Given the description of an element on the screen output the (x, y) to click on. 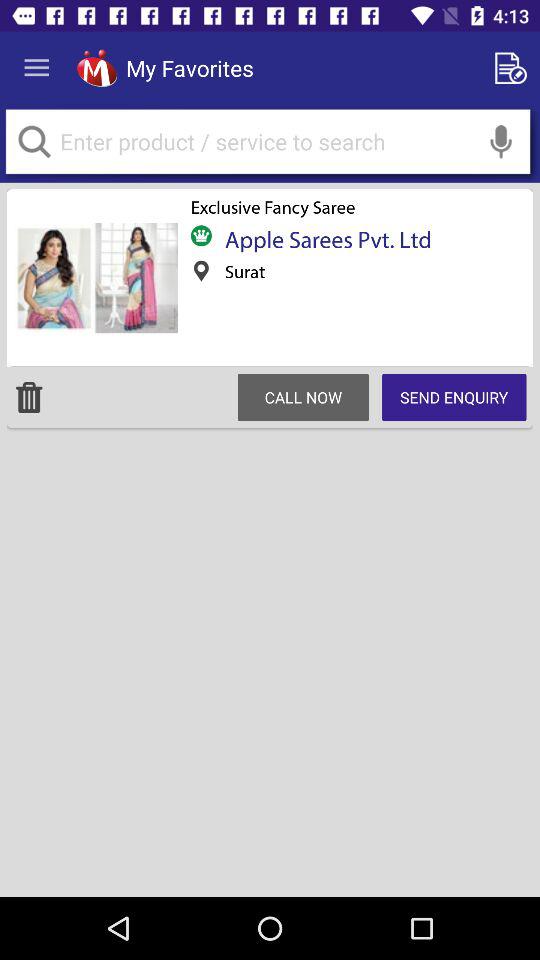
press call now item (303, 397)
